Given the description of an element on the screen output the (x, y) to click on. 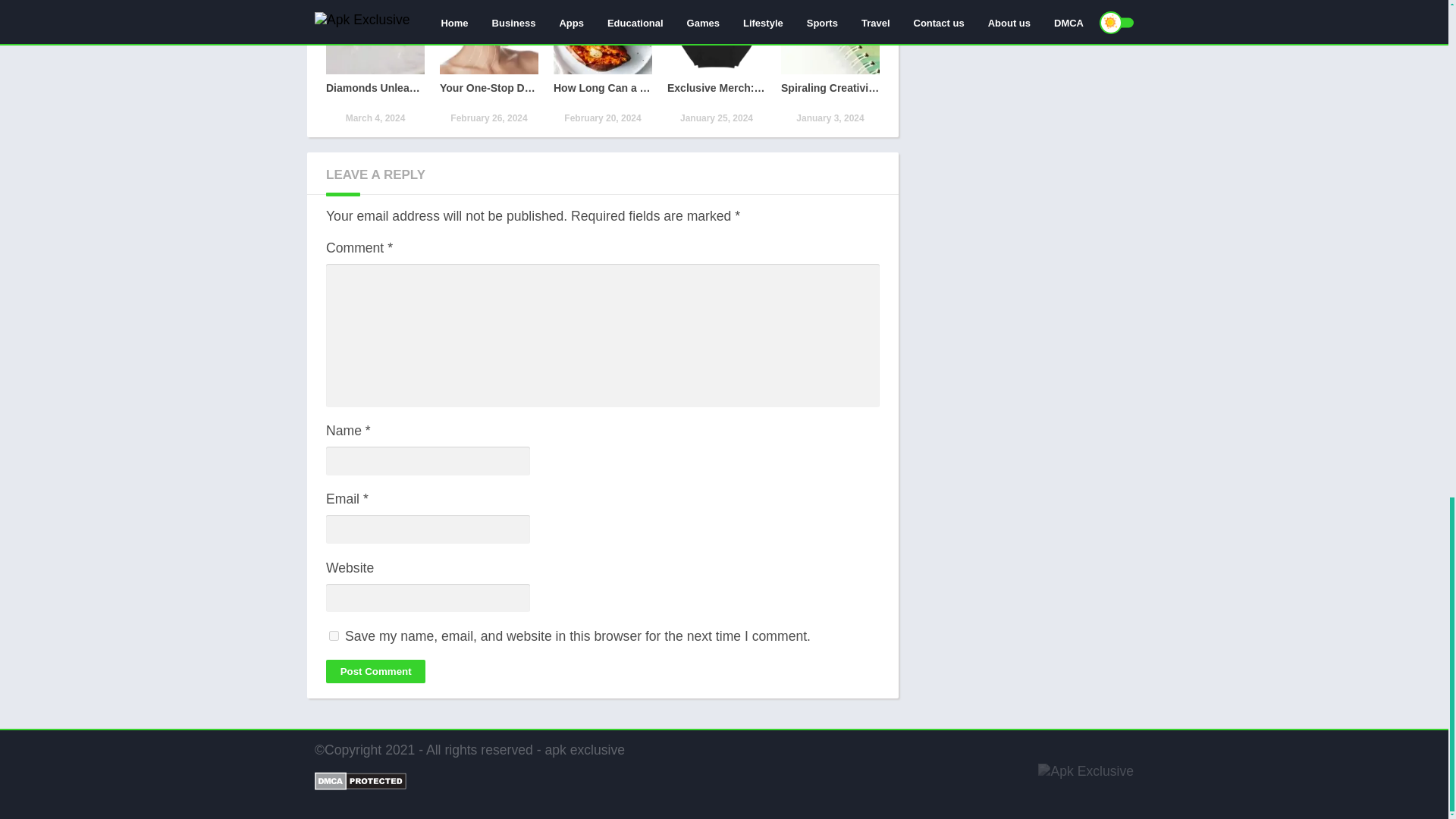
Diamonds Unleashed: A Guide to Diamond Loose Stones (375, 63)
DMCA.com Protection Status (360, 785)
yes (334, 635)
Post Comment (375, 671)
Your One-Stop Destination for All Your Cosmetic Filler Needs (488, 63)
